Given the description of an element on the screen output the (x, y) to click on. 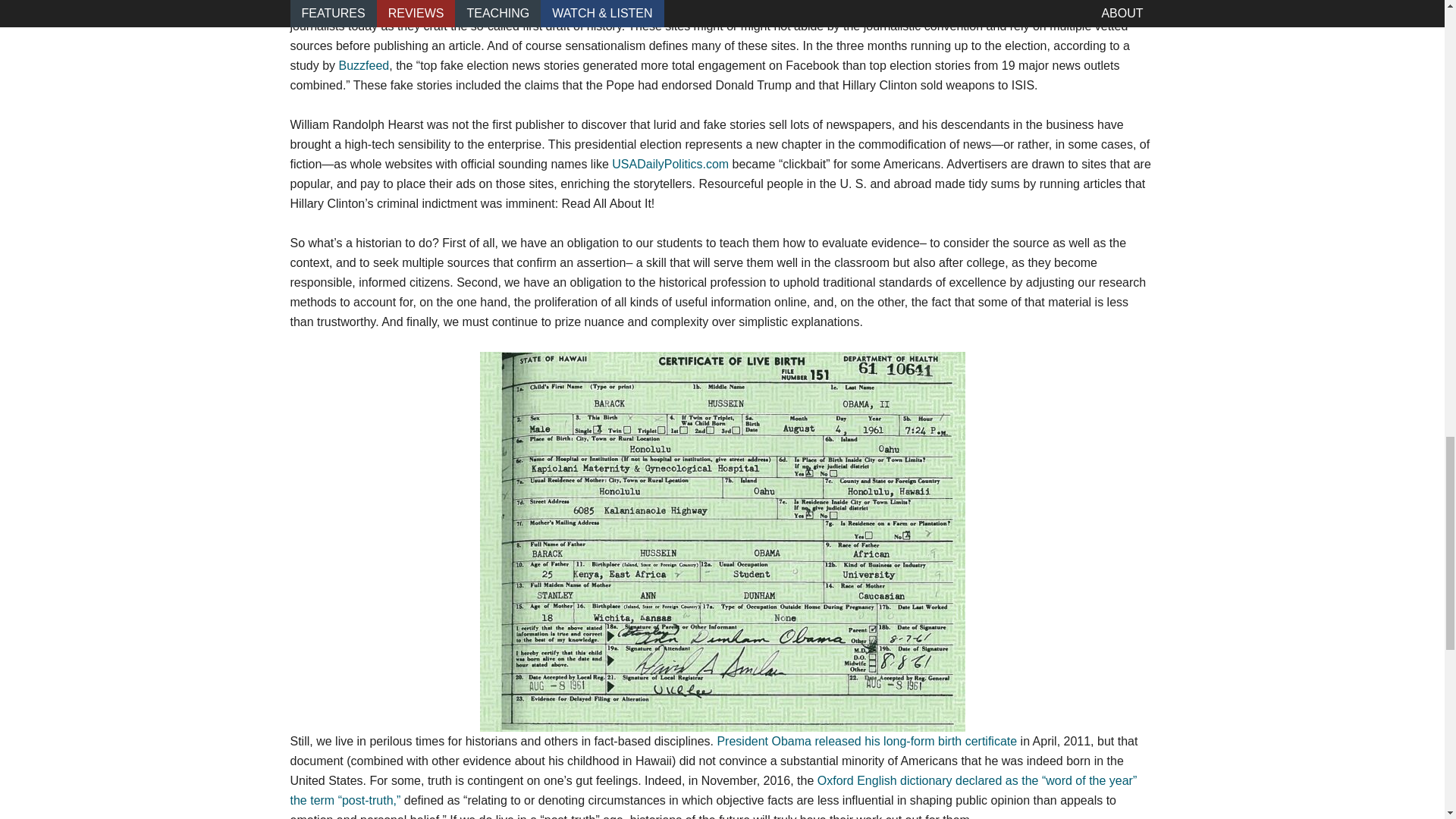
President Obama released his long-form birth certificate (866, 740)
Buzzfeed (364, 65)
USADailyPolitics.com (670, 164)
